Given the description of an element on the screen output the (x, y) to click on. 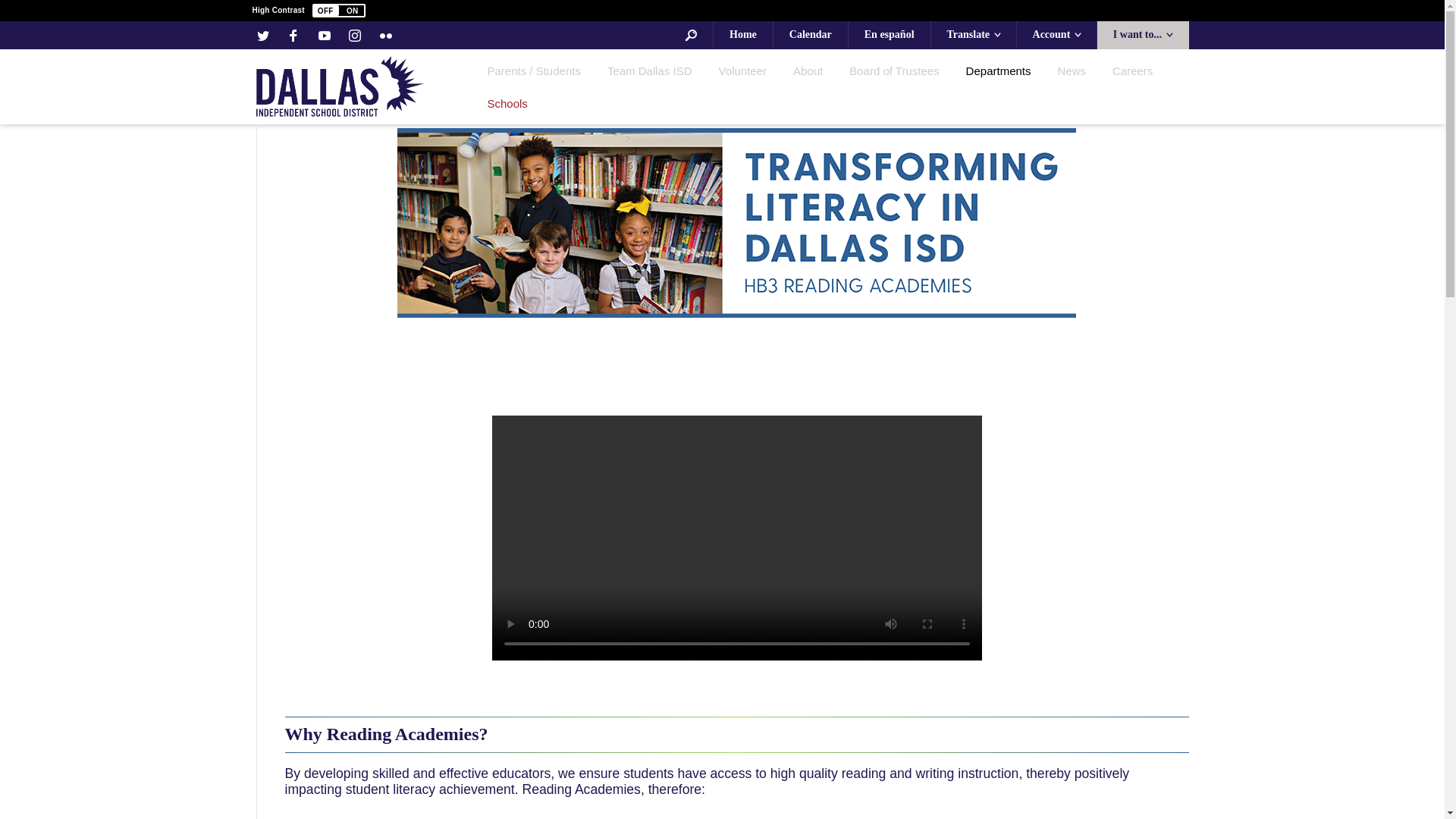
HB3 Reading Academies (736, 222)
